Given the description of an element on the screen output the (x, y) to click on. 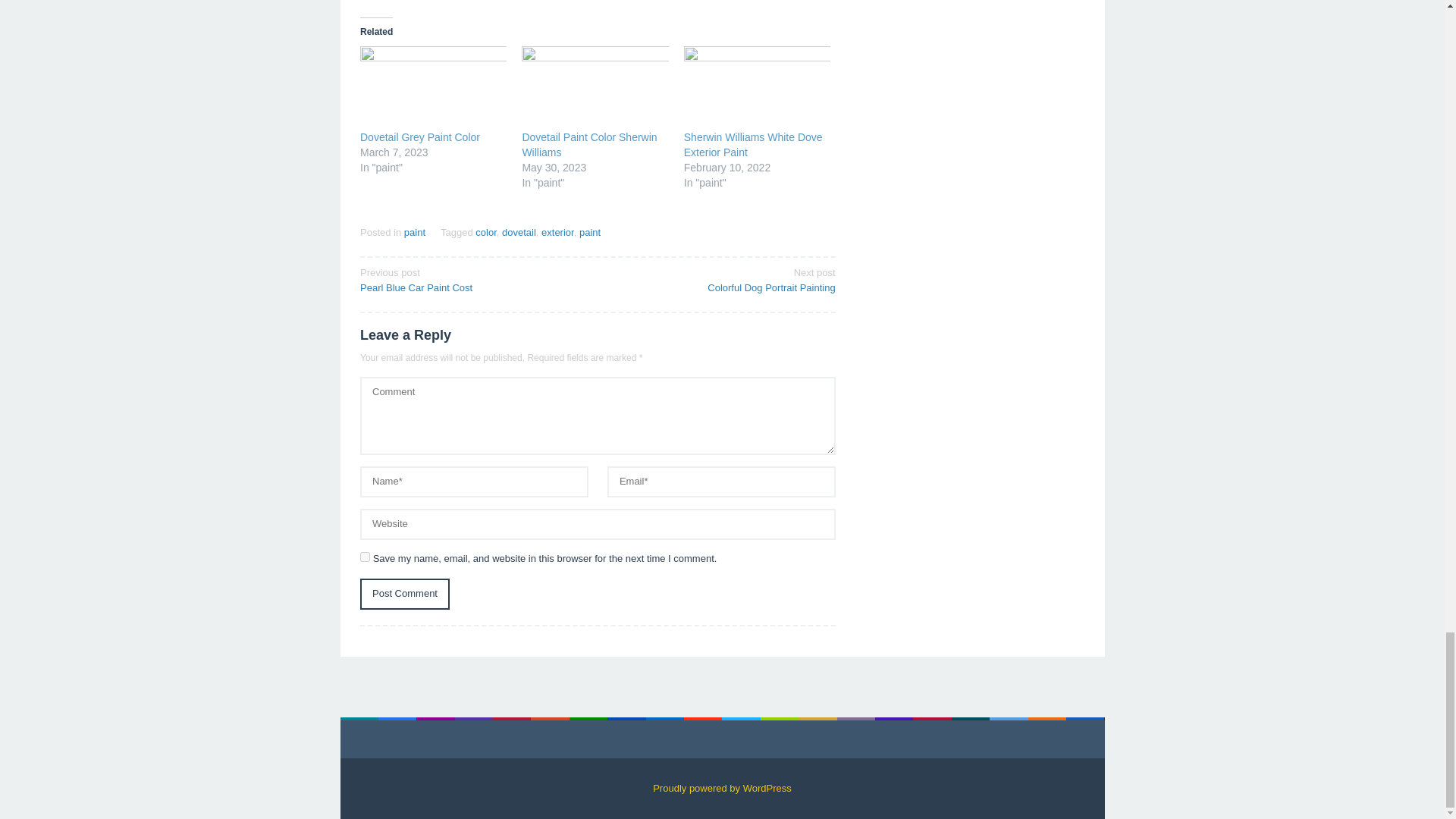
Dovetail Paint Color Sherwin Williams (721, 279)
color (588, 144)
Sherwin Williams White Dove Exterior Paint (486, 232)
exterior (753, 144)
Post Comment (557, 232)
Dovetail Grey Paint Color (404, 593)
paint (419, 137)
Dovetail Grey Paint Color (589, 232)
yes (432, 87)
